Given the description of an element on the screen output the (x, y) to click on. 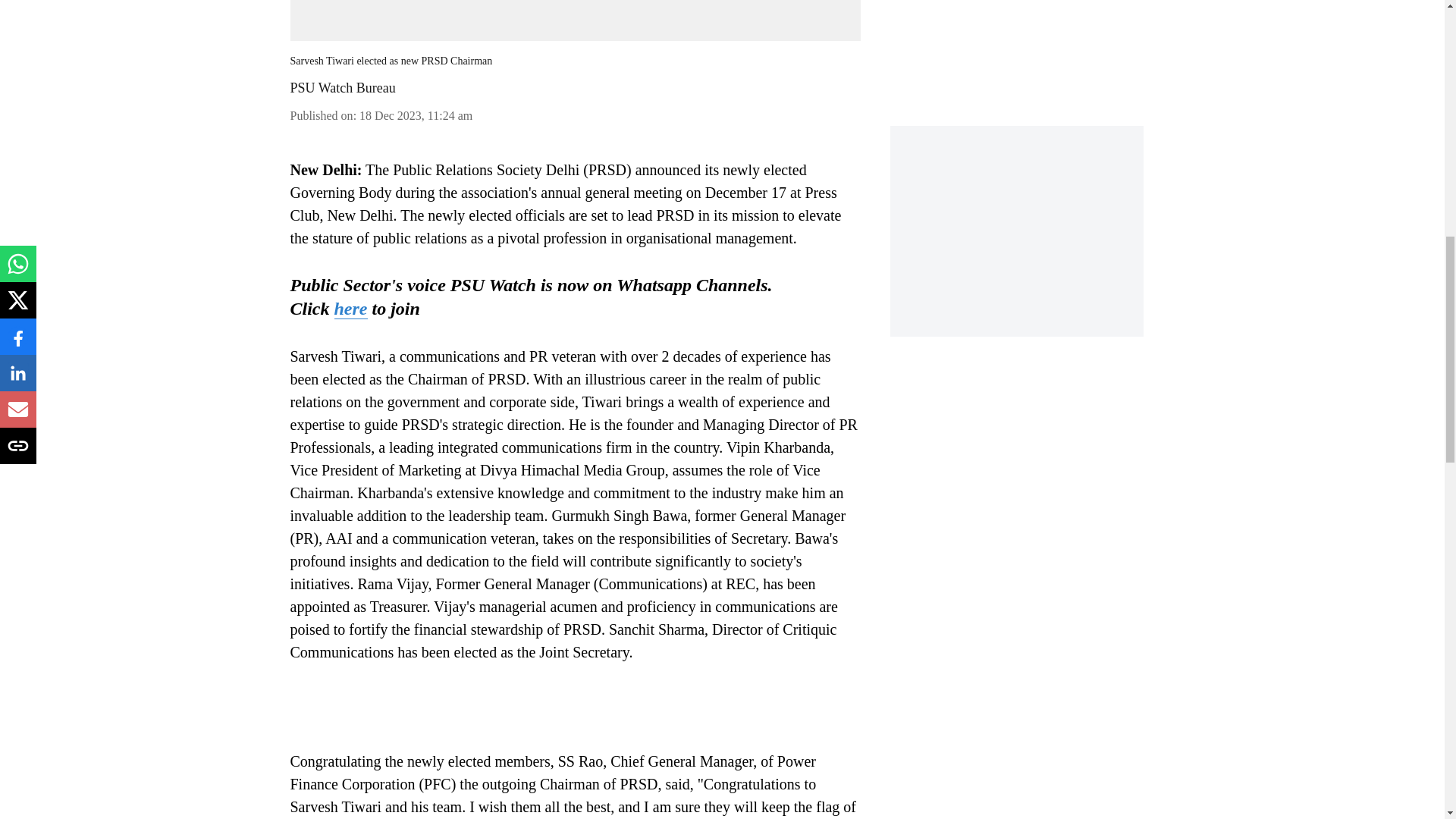
PSU Watch Bureau (341, 87)
here (349, 308)
2023-12-18 11:24 (415, 115)
